Given the description of an element on the screen output the (x, y) to click on. 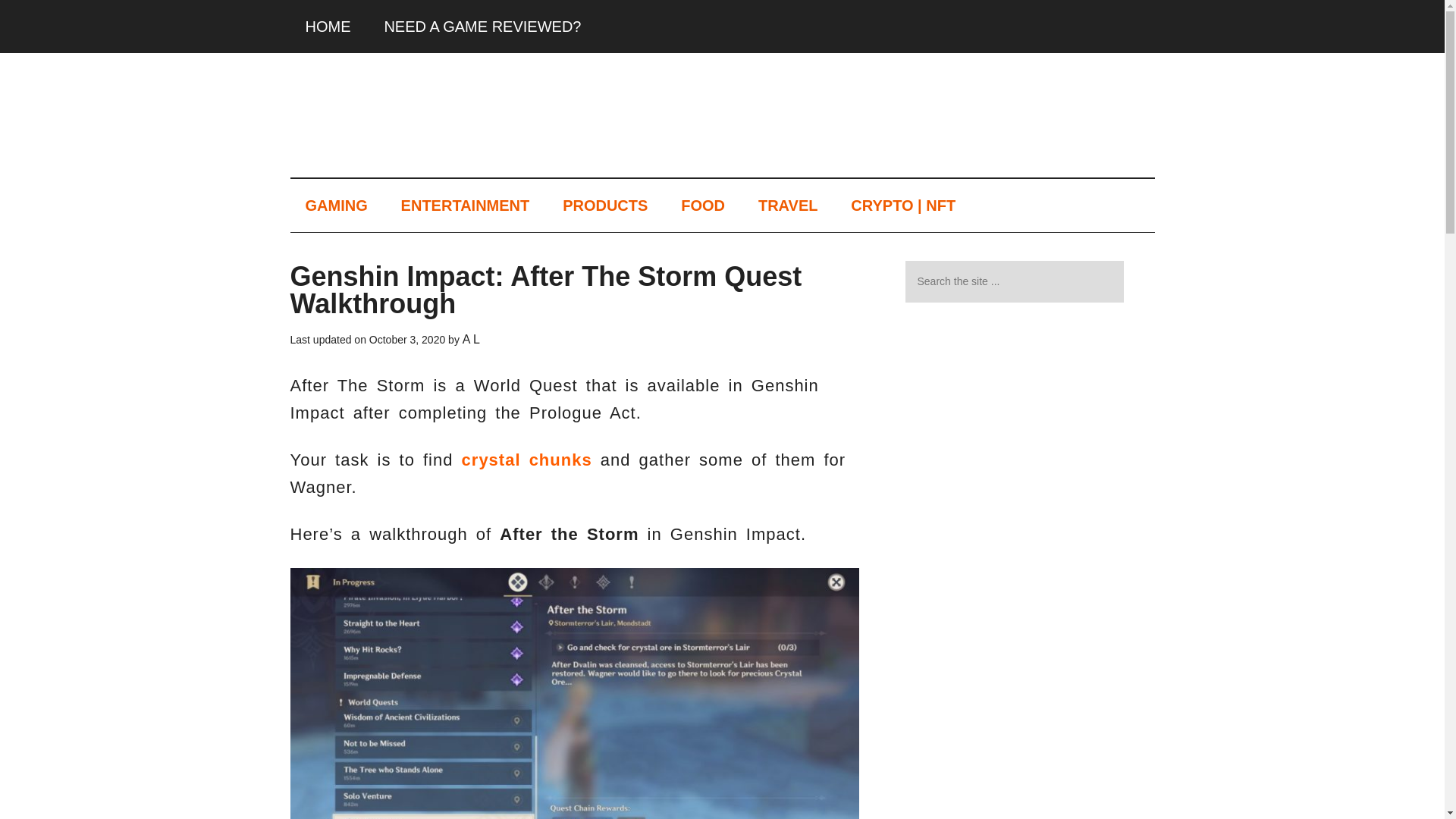
GAMING (335, 205)
NEED A GAME REVIEWED? (481, 26)
PRODUCTS (604, 205)
ENTERTAINMENT (464, 205)
TRAVEL (787, 205)
FOOD (702, 205)
A L (471, 339)
